Given the description of an element on the screen output the (x, y) to click on. 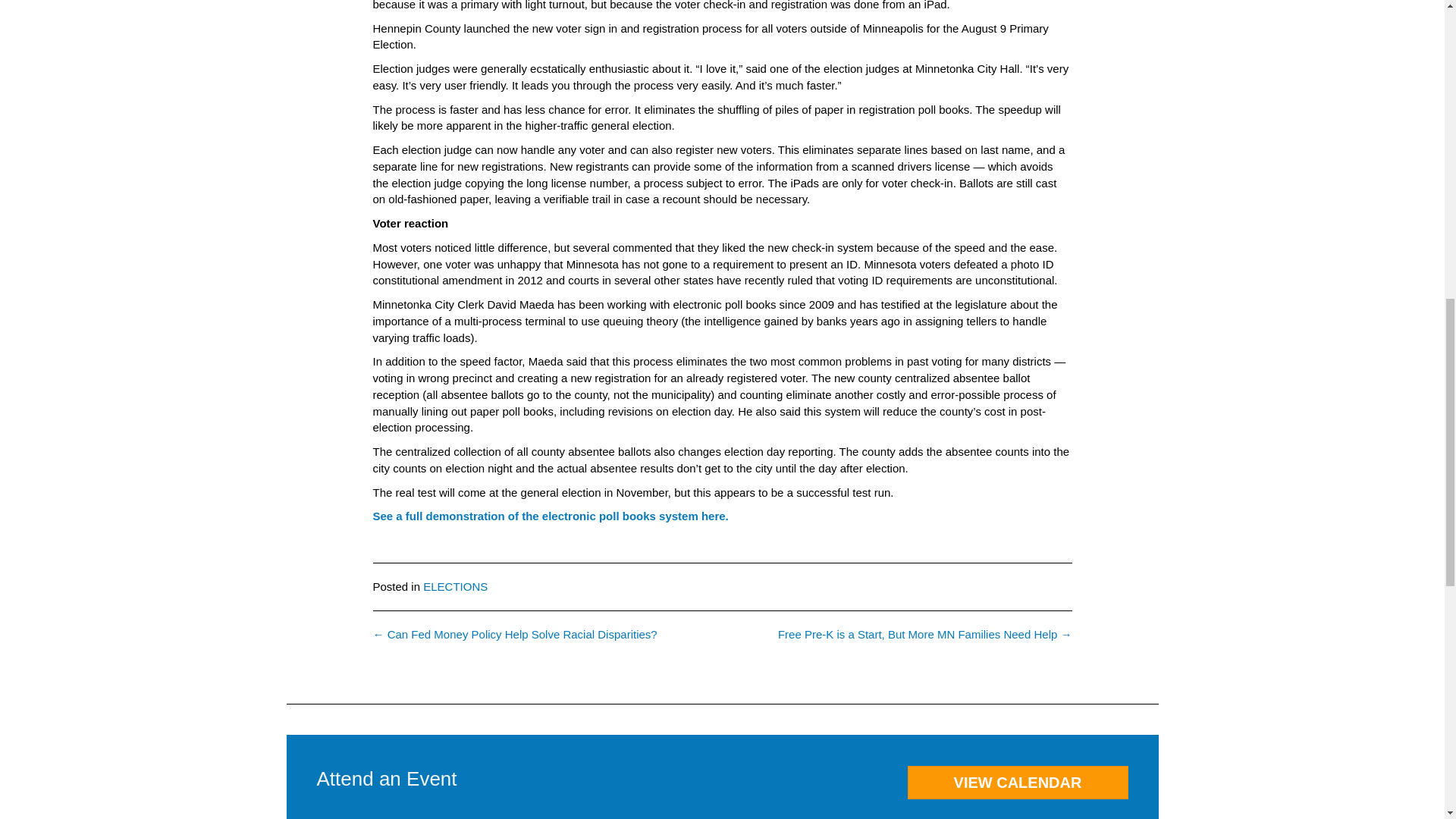
ELECTIONS (455, 585)
VIEW CALENDAR (1016, 782)
